Given the description of an element on the screen output the (x, y) to click on. 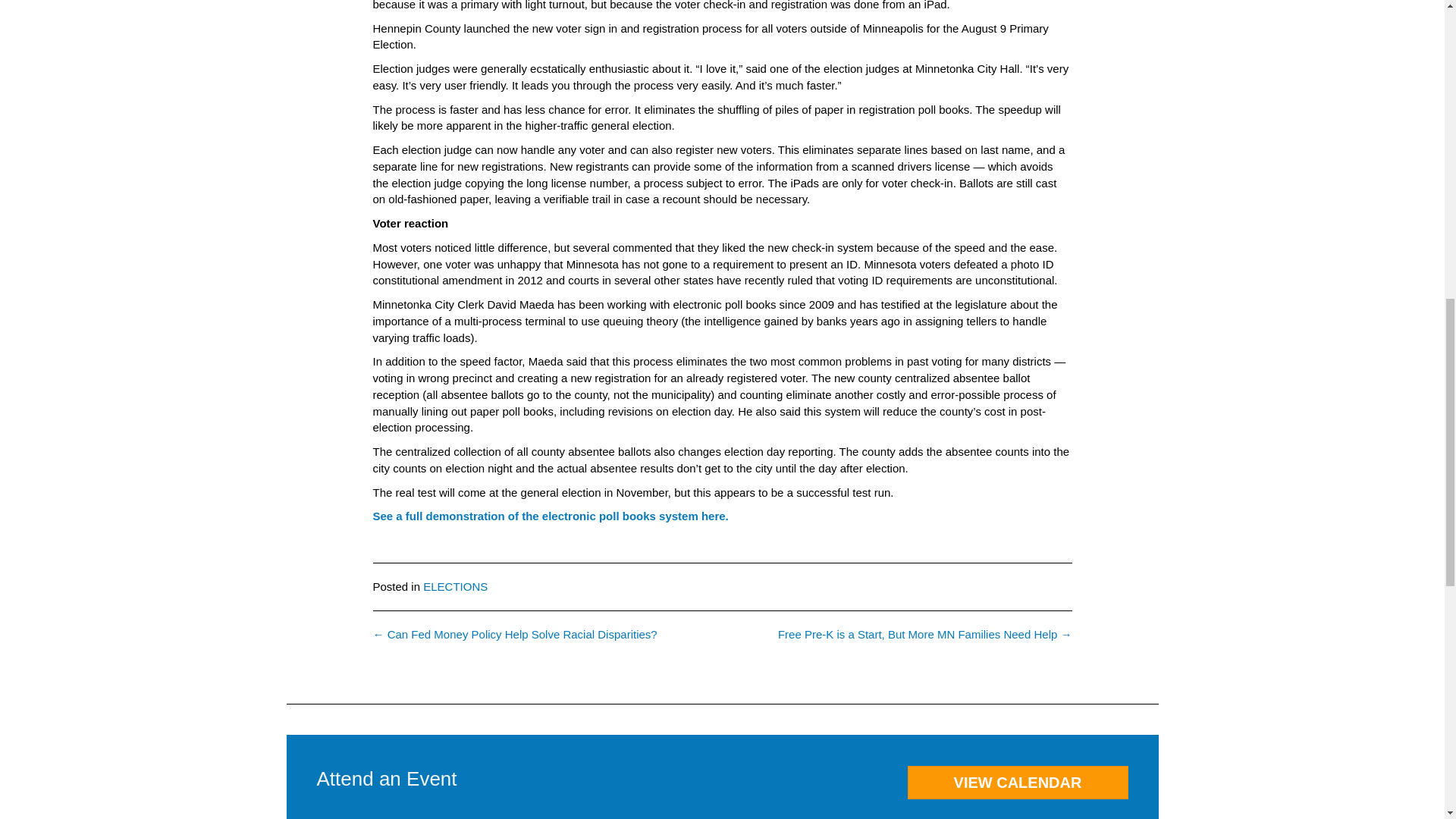
ELECTIONS (455, 585)
VIEW CALENDAR (1016, 782)
